Given the description of an element on the screen output the (x, y) to click on. 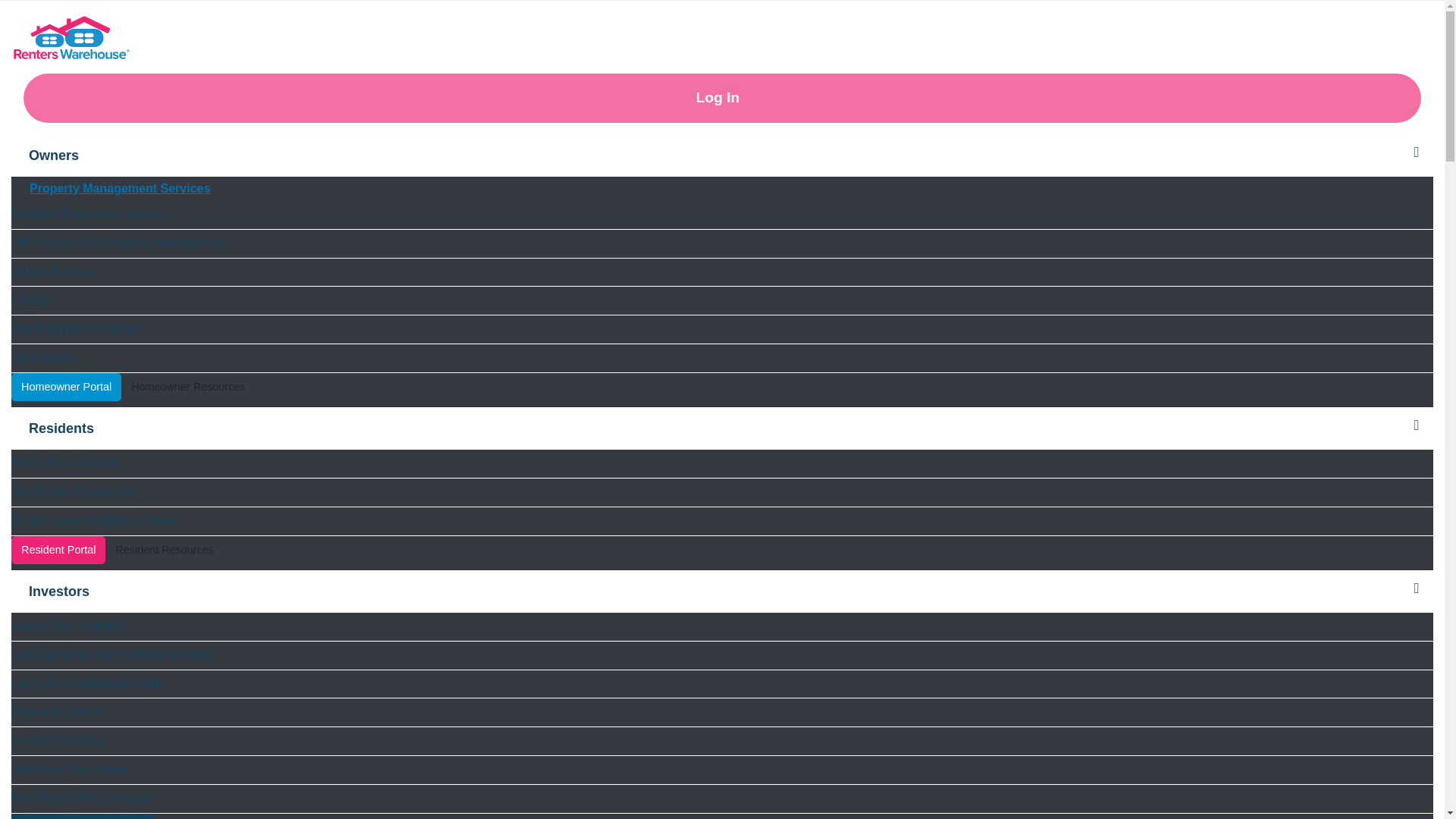
Homeowner Resources (187, 390)
Pricing (721, 300)
Log In (200, 816)
Rent Estate (721, 357)
Investor Login (200, 816)
Resident Resources (164, 553)
Homeowner Portal (65, 387)
Owners (721, 155)
Find a Rental Home (721, 463)
Added Services (721, 272)
Log In (722, 97)
Resident Placement Services (721, 214)
Property Management Services (721, 188)
Create Investor Account (82, 816)
Agent Referral Program (721, 329)
